Given the description of an element on the screen output the (x, y) to click on. 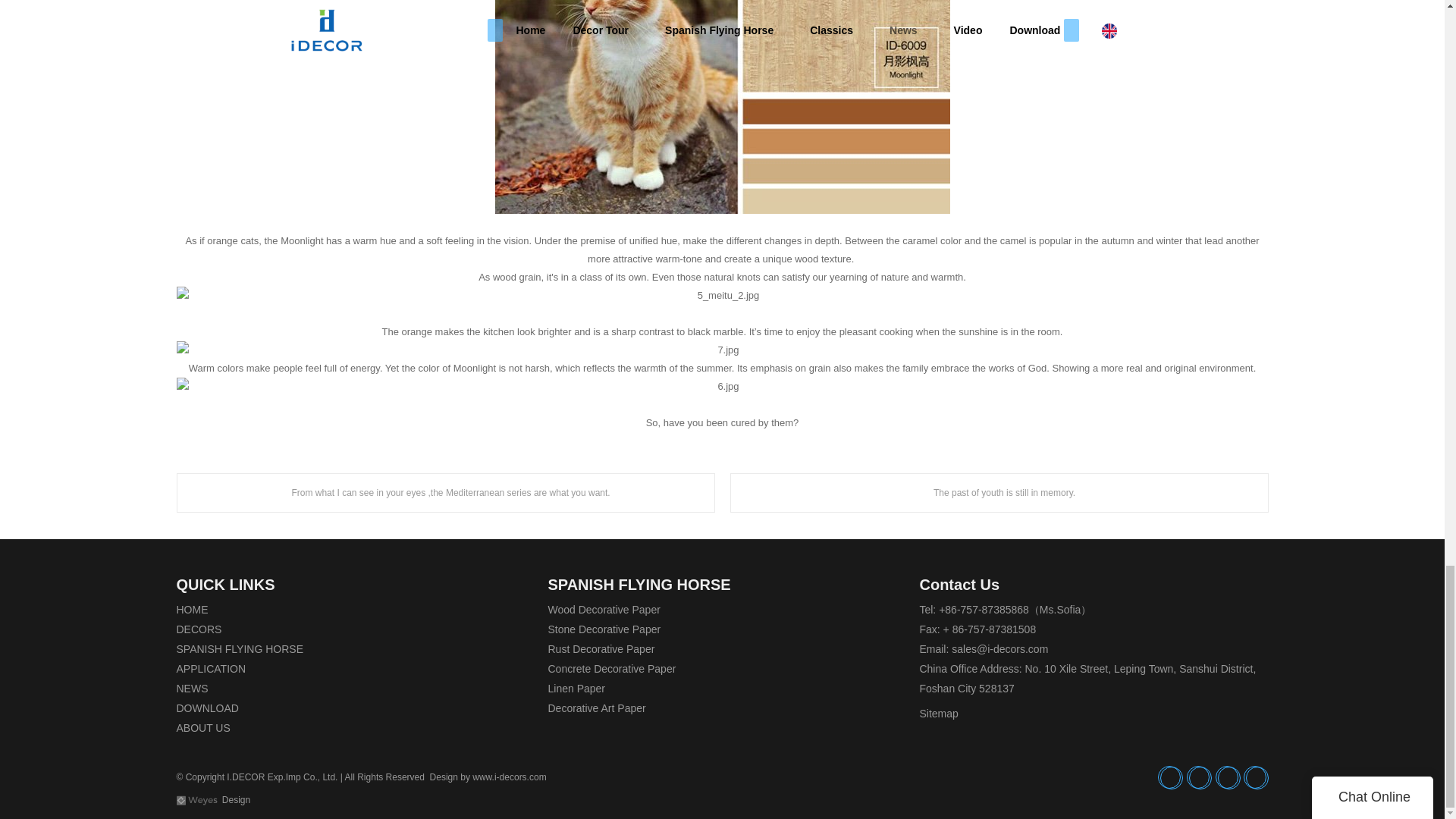
The past of youth is still in memory. (998, 492)
DECORS (198, 629)
SPANISH FLYING HORSE (239, 648)
The past of youth is still in memory. (998, 492)
HOME (192, 609)
